Given the description of an element on the screen output the (x, y) to click on. 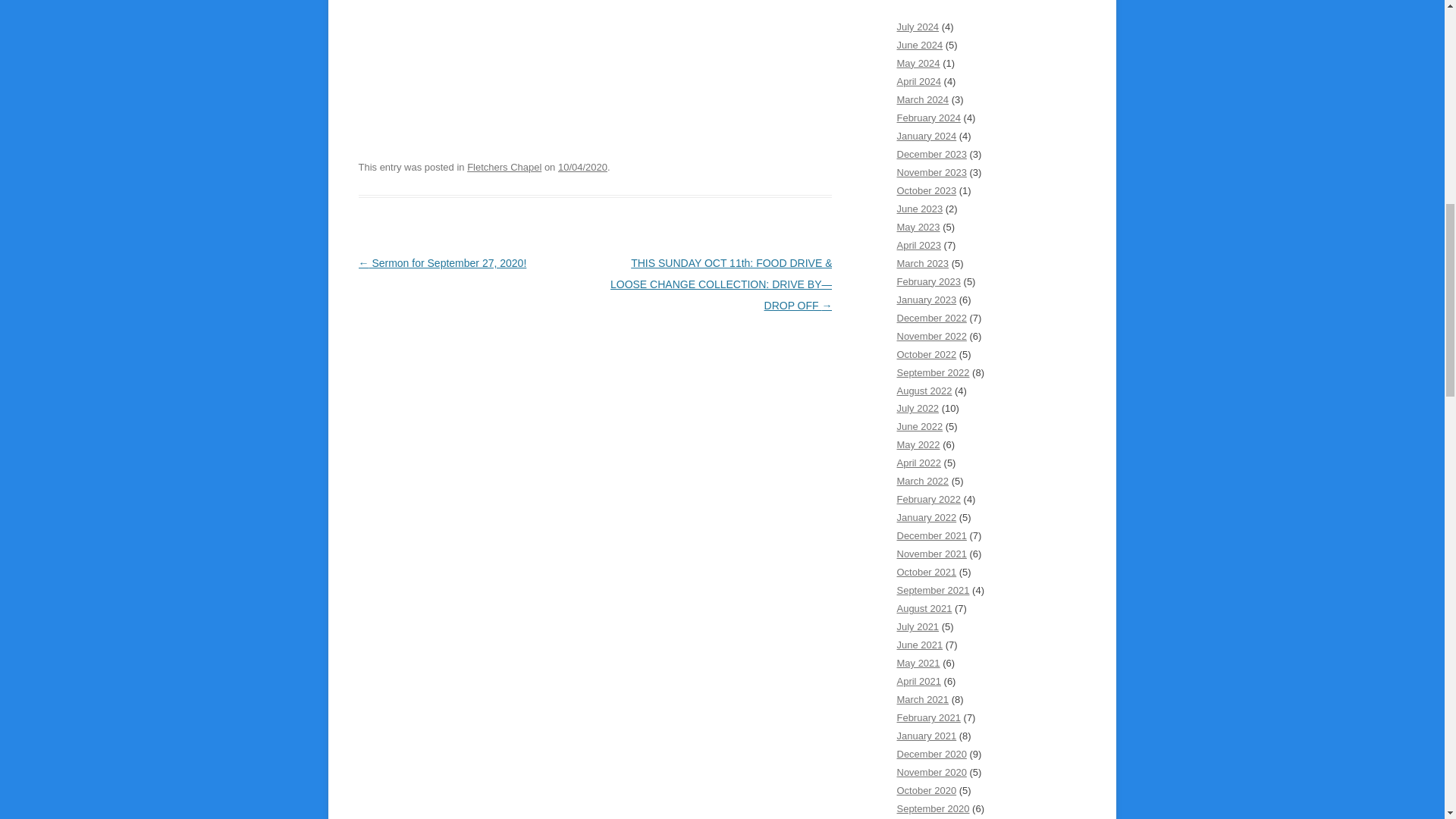
June 2023 (919, 208)
7:25 am (582, 166)
February 2023 (927, 281)
May 2023 (917, 226)
June 2024 (919, 44)
April 2023 (918, 244)
January 2024 (926, 135)
November 2023 (931, 172)
January 2023 (926, 299)
April 2024 (918, 81)
March 2024 (922, 99)
October 2023 (926, 190)
May 2024 (917, 62)
March 2023 (922, 263)
July 2024 (917, 26)
